Given the description of an element on the screen output the (x, y) to click on. 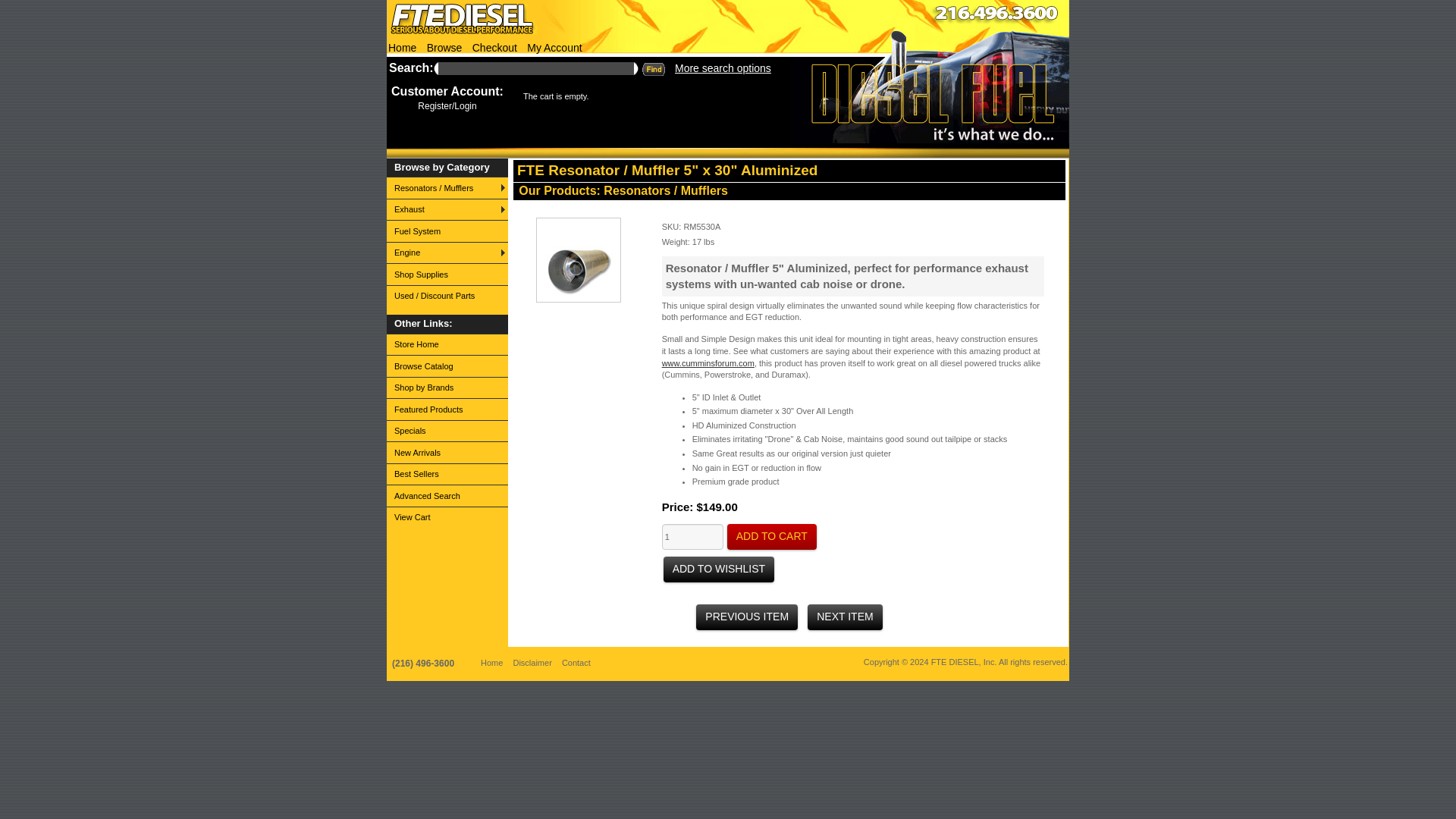
Best Sellers (447, 474)
Specials (447, 431)
More search options (425, 83)
Exhaust (447, 209)
Fuel System (447, 230)
Advanced Search (447, 495)
Featured Products (447, 409)
Checkout (493, 47)
Shop Supplies (447, 273)
My Account (553, 47)
Engine (447, 252)
1 (692, 536)
Shop by Brands (447, 387)
View Cart (447, 517)
Search (652, 67)
